Given the description of an element on the screen output the (x, y) to click on. 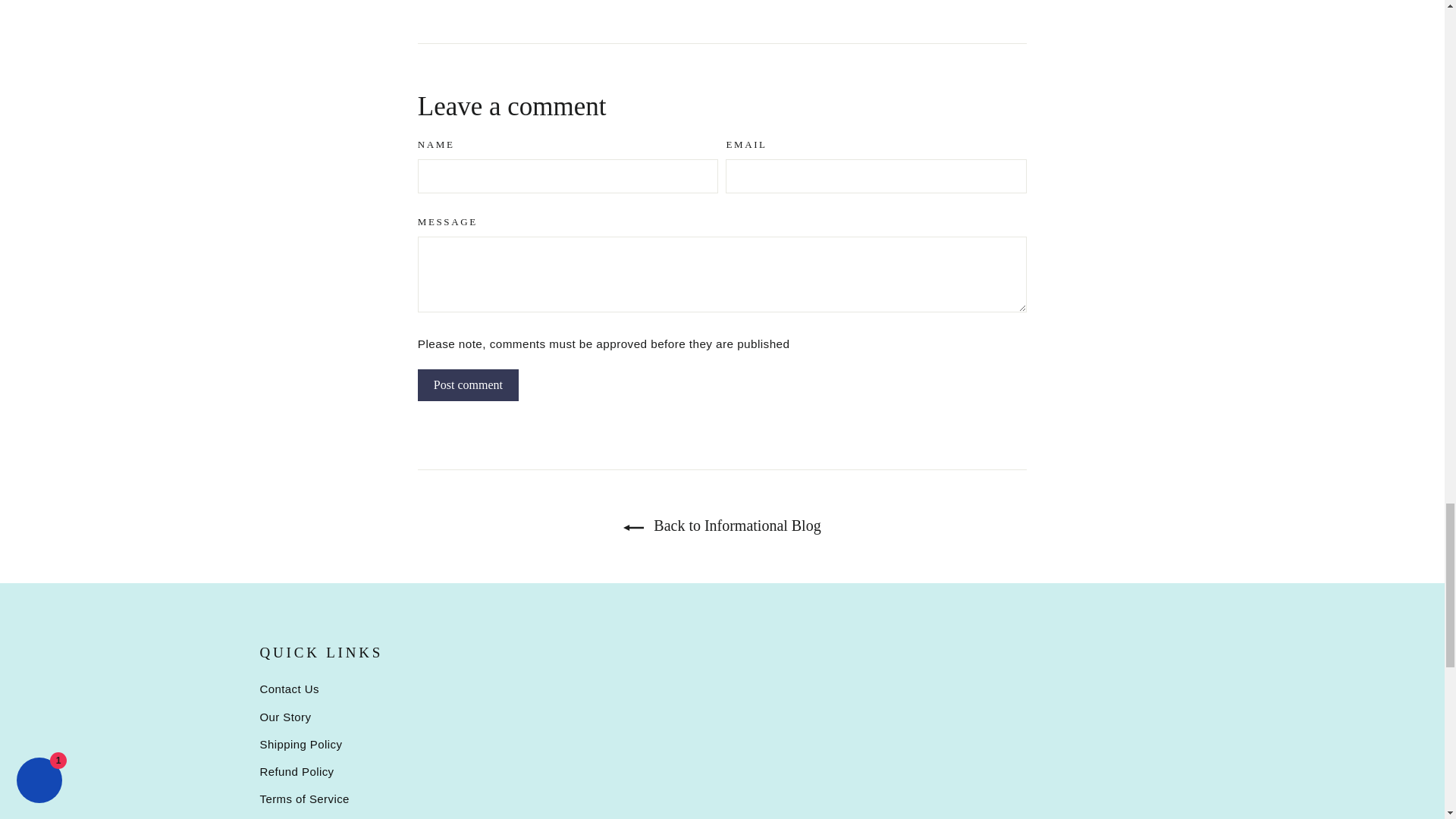
Post comment (467, 385)
